Given the description of an element on the screen output the (x, y) to click on. 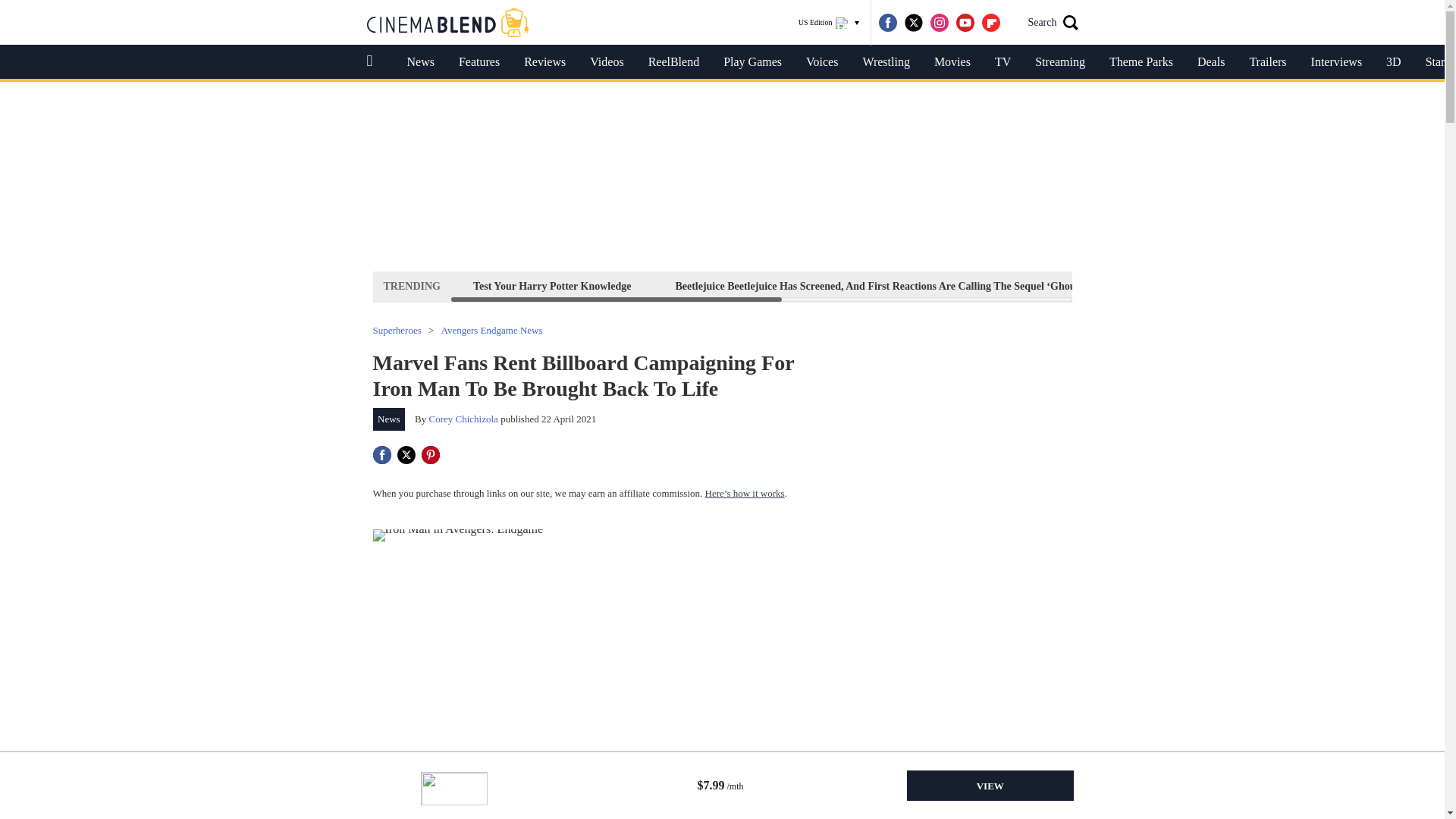
Trailers (1267, 61)
News (419, 61)
Voices (821, 61)
Reviews (545, 61)
Streaming (1060, 61)
3D (1393, 61)
2024 Upcoming Movies (1221, 286)
Wrestling (885, 61)
Test Your Harry Potter Knowledge (551, 286)
Play Games (752, 61)
